Given the description of an element on the screen output the (x, y) to click on. 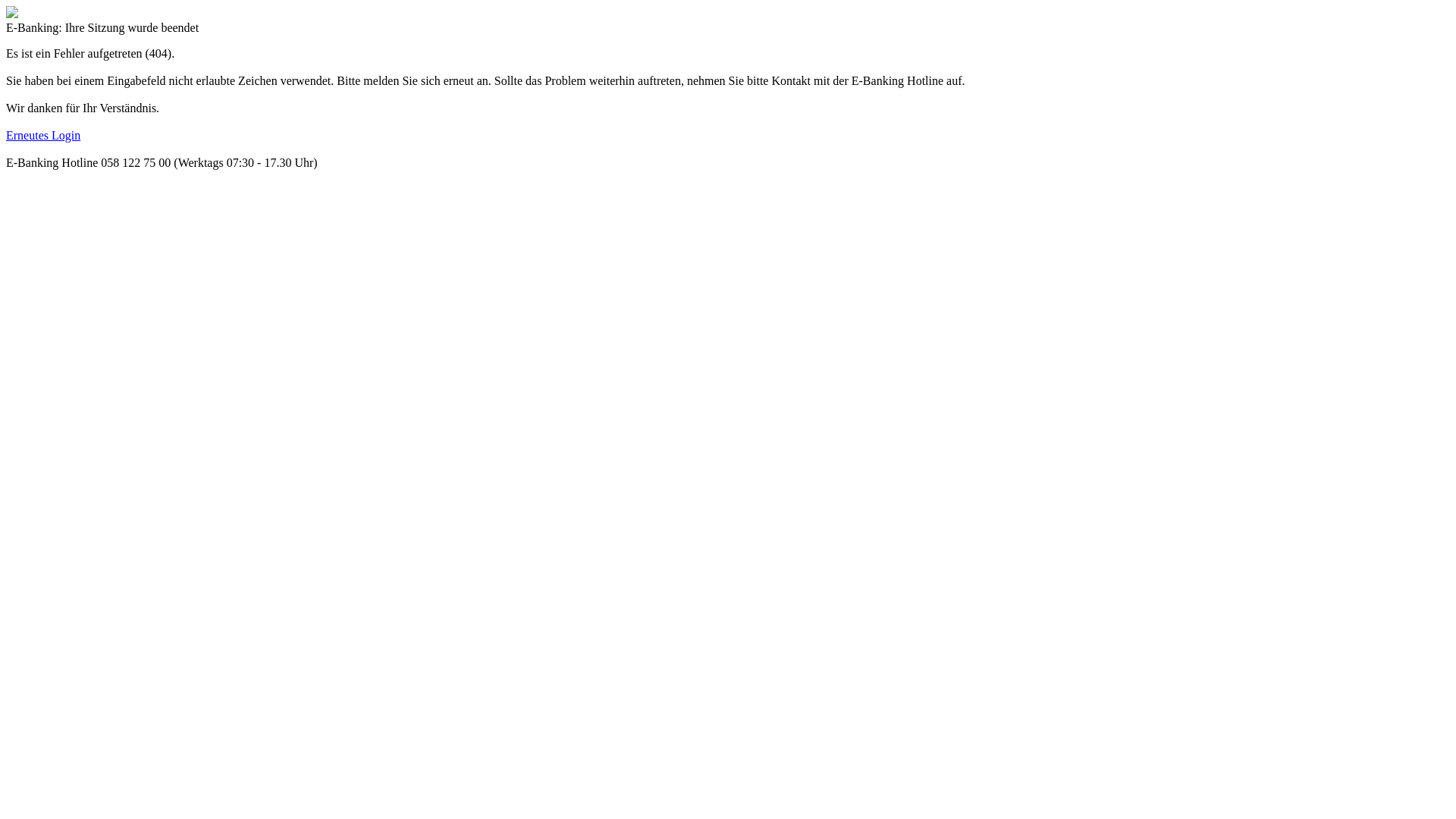
Erneutes Login Element type: text (43, 134)
